Given the description of an element on the screen output the (x, y) to click on. 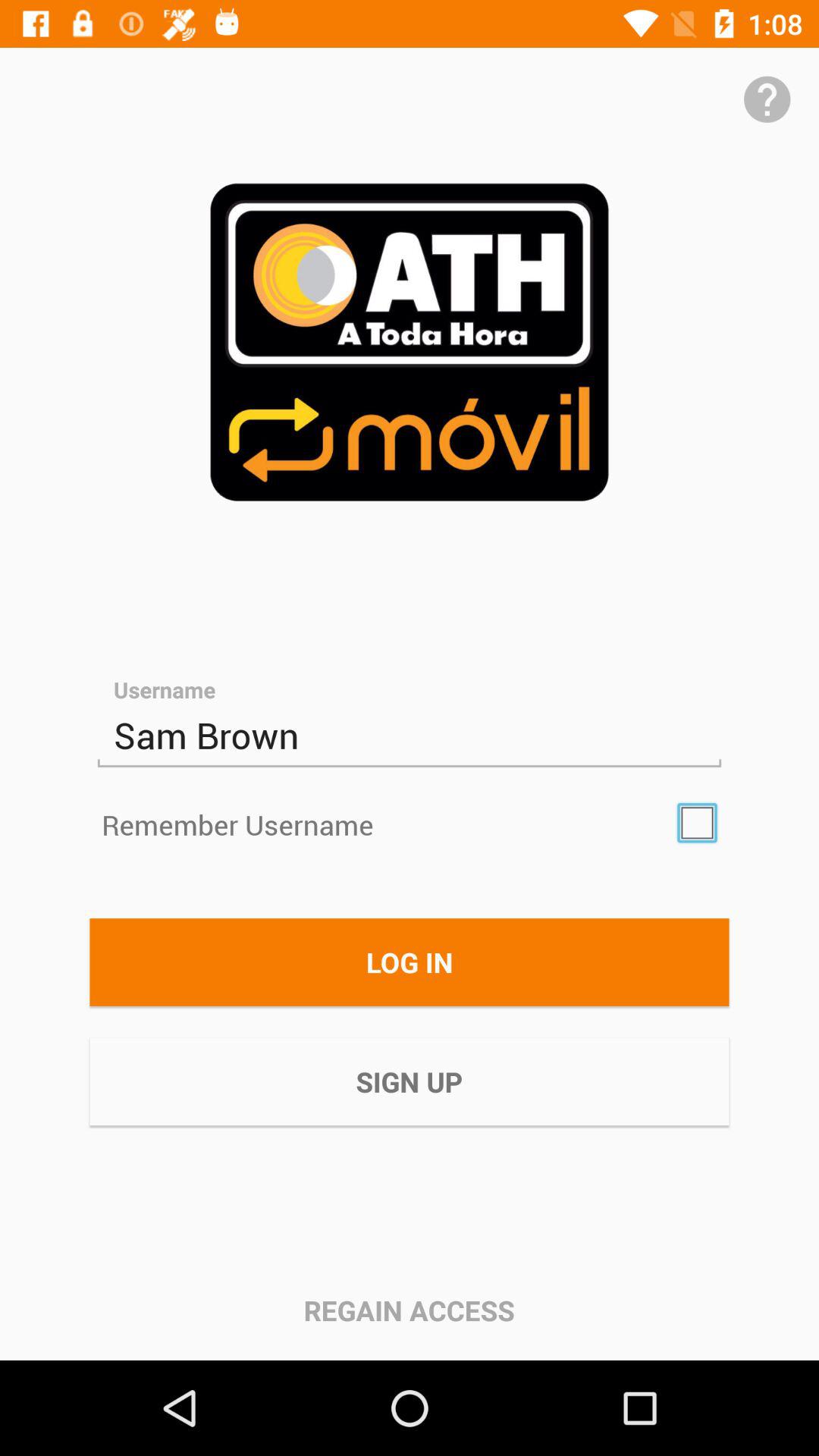
click item below the log in item (409, 1081)
